Given the description of an element on the screen output the (x, y) to click on. 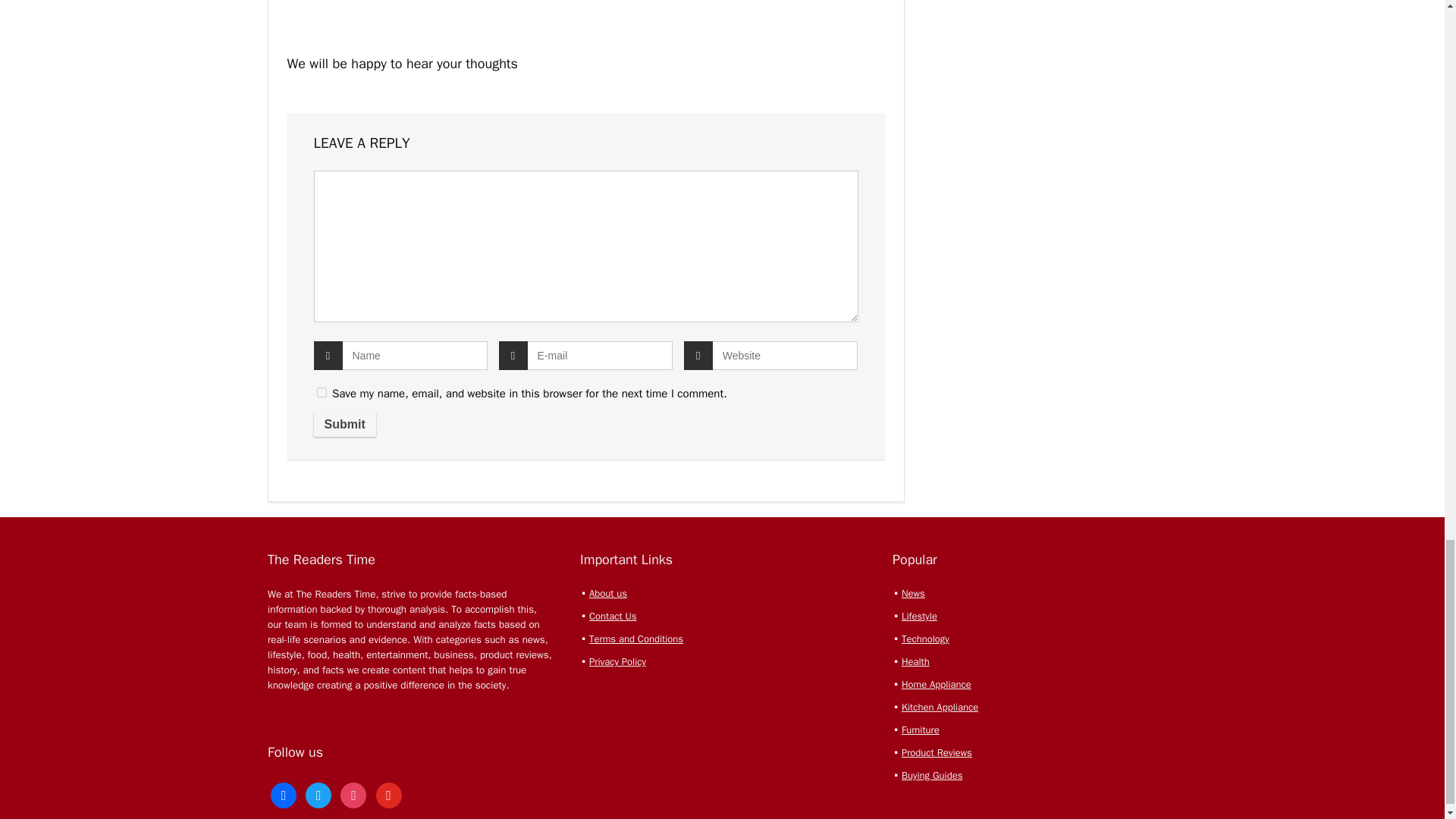
yes (321, 392)
Submit (344, 424)
Facebook (283, 793)
X (318, 793)
Instagram (353, 793)
